Given the description of an element on the screen output the (x, y) to click on. 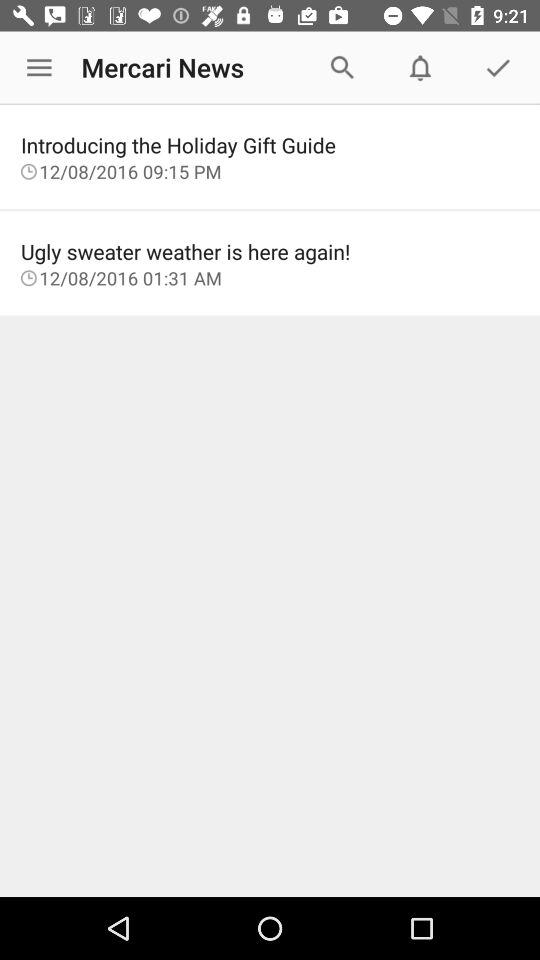
select the item below the 12 08 2016 item (270, 251)
